Given the description of an element on the screen output the (x, y) to click on. 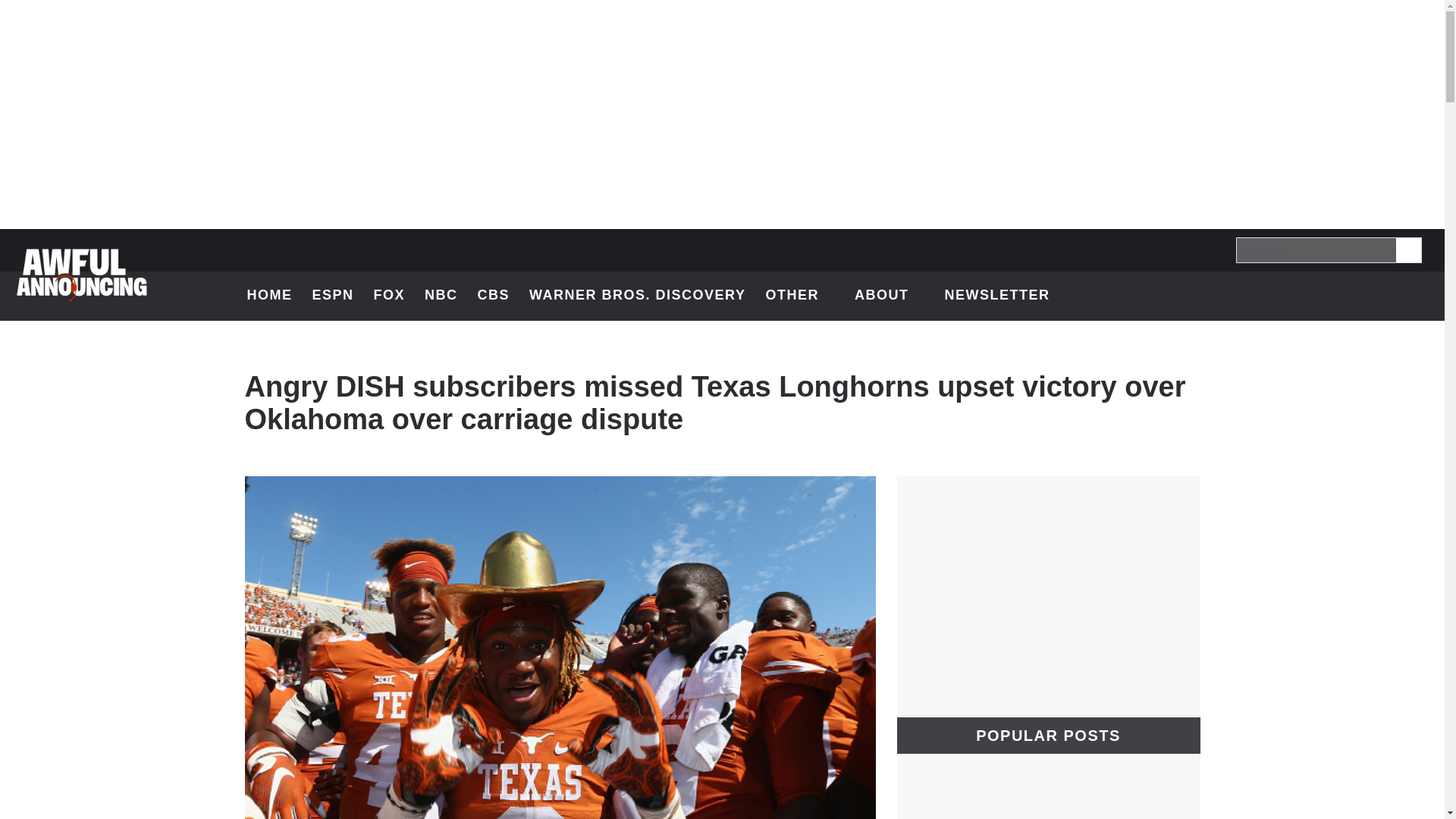
Link to Twitter (1296, 296)
FOX (390, 296)
SEARCH (1407, 249)
ABOUT (889, 296)
NEWSLETTER (996, 296)
NBC (441, 296)
ESPN (332, 296)
OTHER (799, 296)
CBS (493, 296)
Link to RSS (1414, 296)
